Given the description of an element on the screen output the (x, y) to click on. 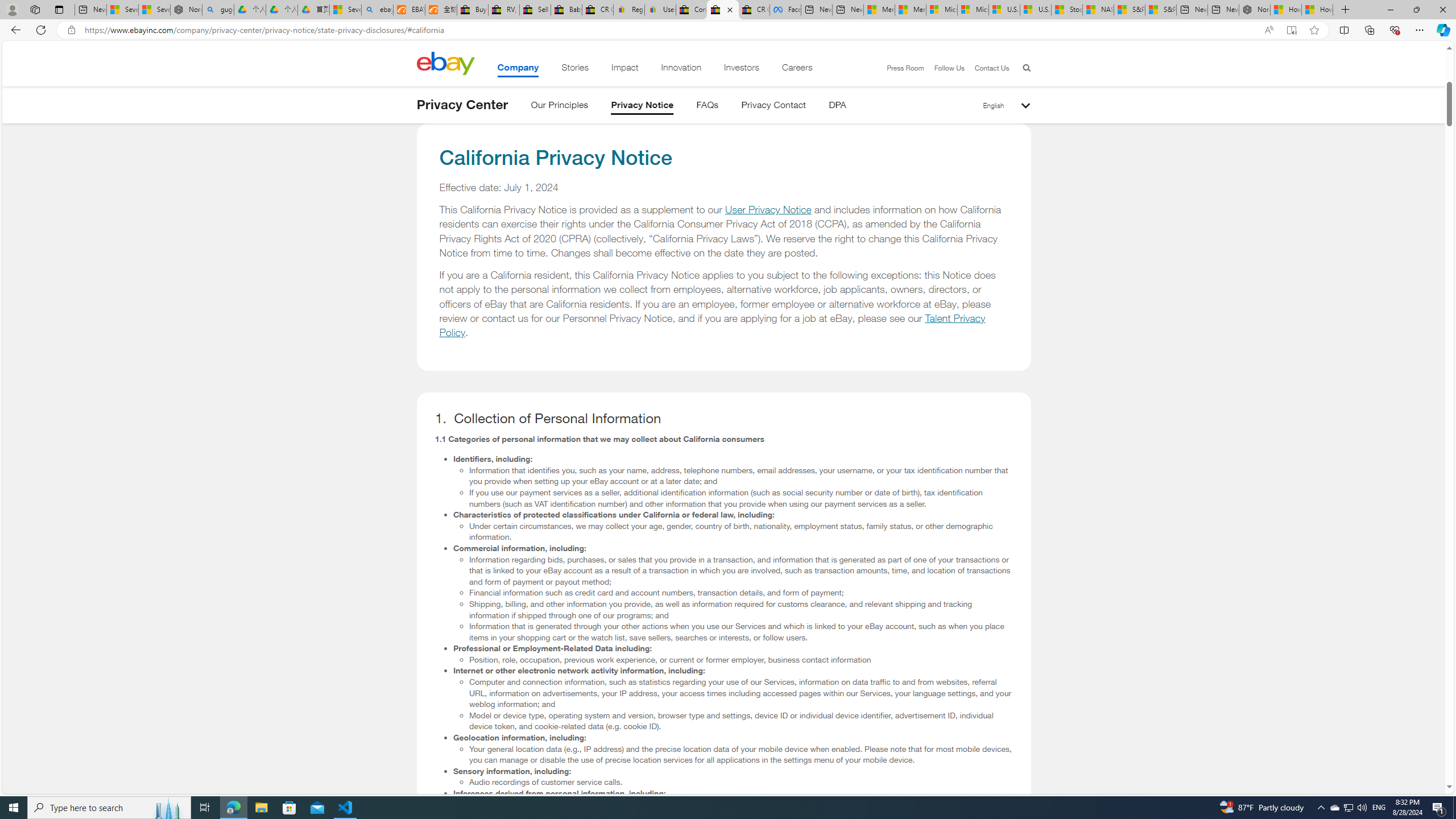
Talent Privacy Policy (712, 325)
U.S. State Privacy Disclosures - eBay Inc. (722, 9)
